Given the description of an element on the screen output the (x, y) to click on. 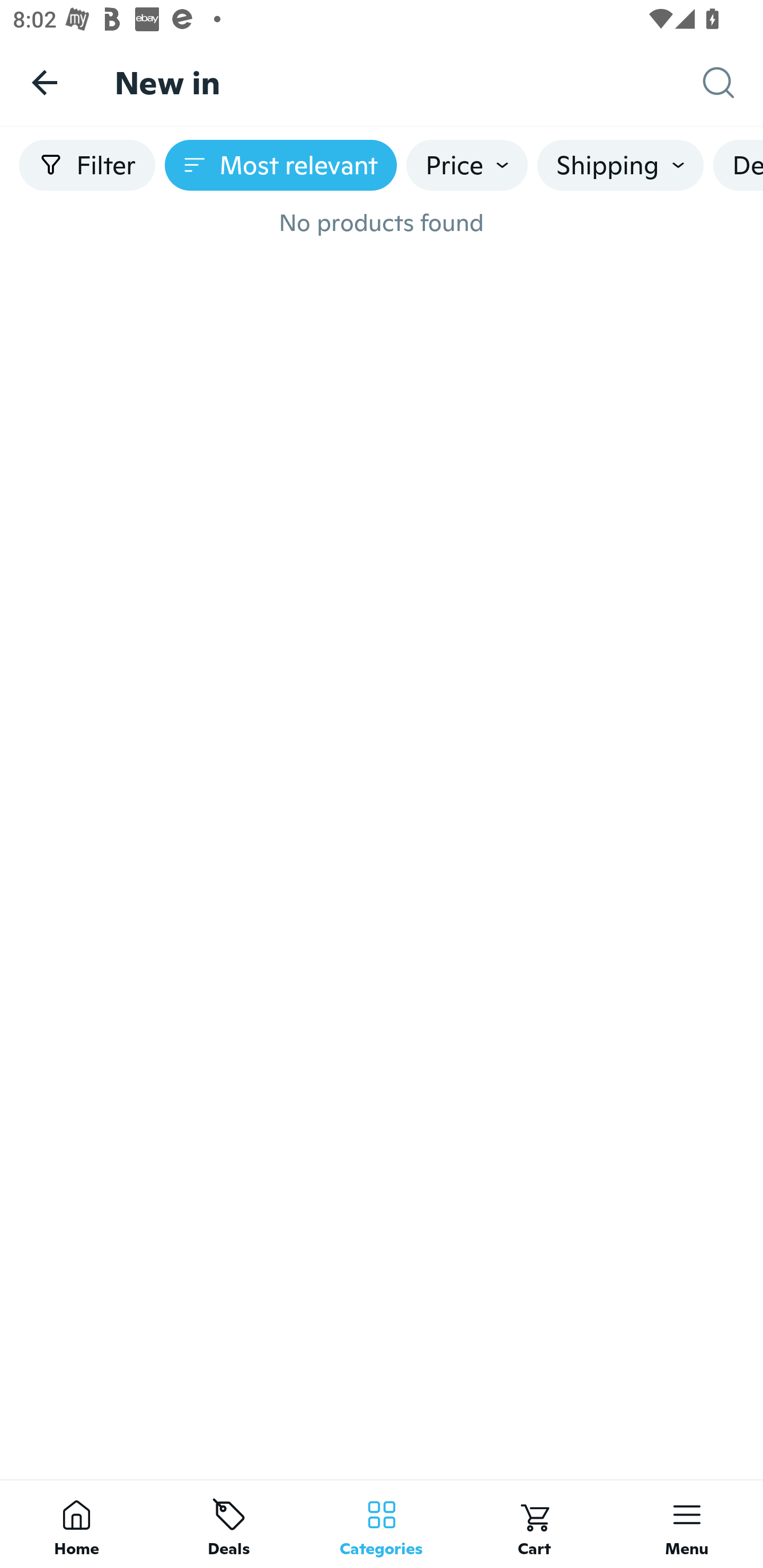
Navigate up (44, 82)
Search (732, 82)
Filter (86, 165)
Most relevant (280, 165)
Price (466, 165)
Shipping (620, 165)
Home (76, 1523)
Deals (228, 1523)
Categories (381, 1523)
Cart (533, 1523)
Menu (686, 1523)
